Given the description of an element on the screen output the (x, y) to click on. 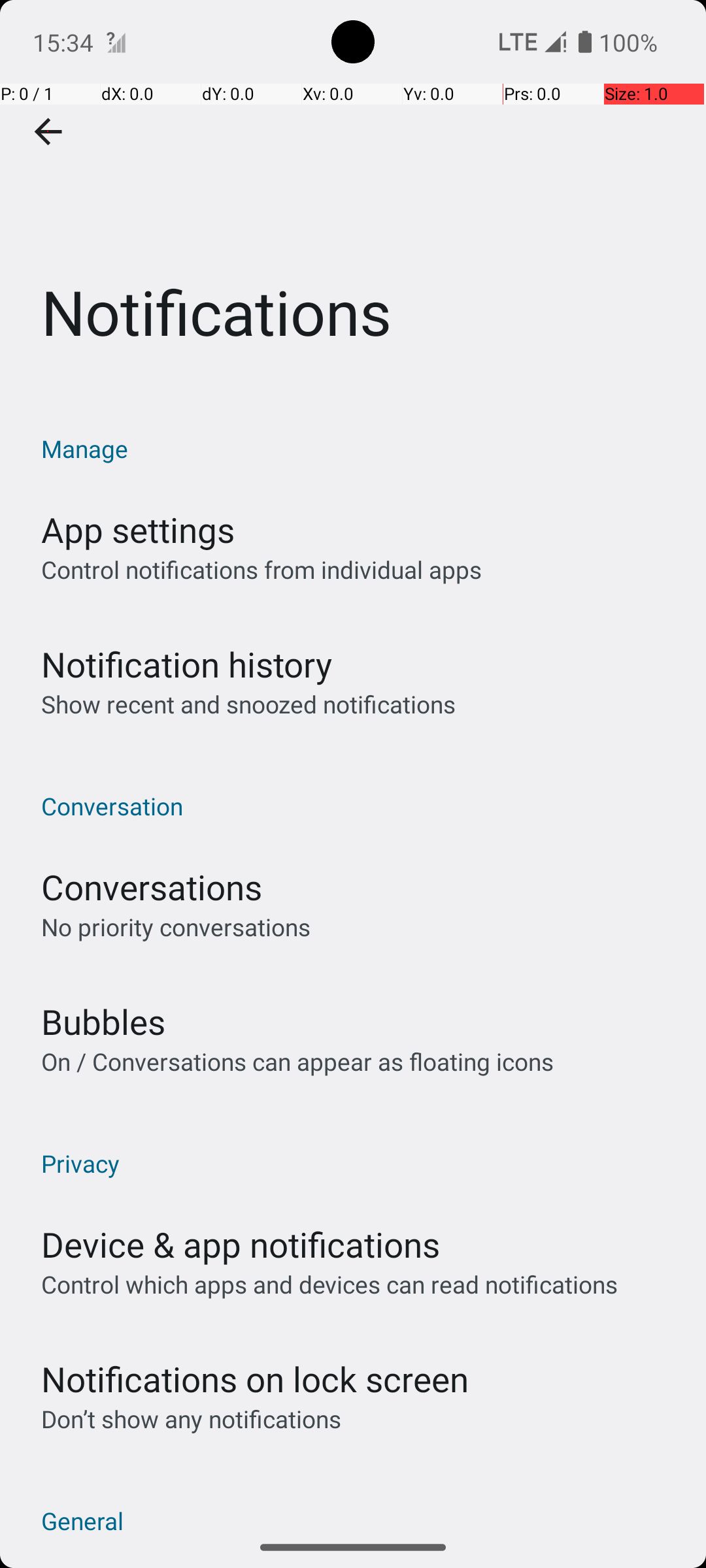
Don’t show any notifications Element type: android.widget.TextView (191, 1418)
